Given the description of an element on the screen output the (x, y) to click on. 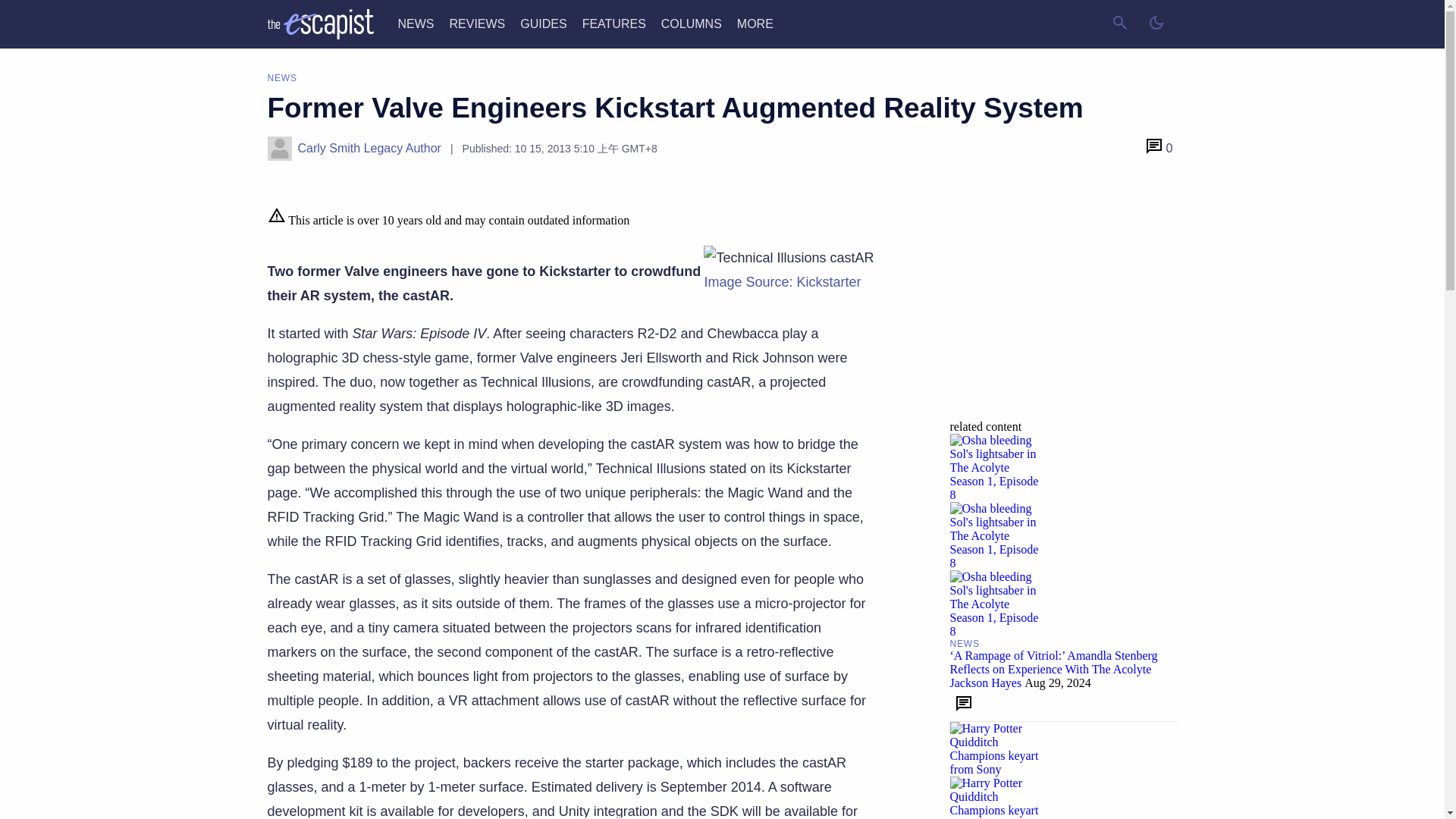
NEWS (415, 23)
FEATURES (614, 23)
Dark Mode (1155, 23)
Search (1118, 23)
REVIEWS (476, 23)
COLUMNS (691, 23)
GUIDES (542, 23)
Kickstarter (781, 281)
